Given the description of an element on the screen output the (x, y) to click on. 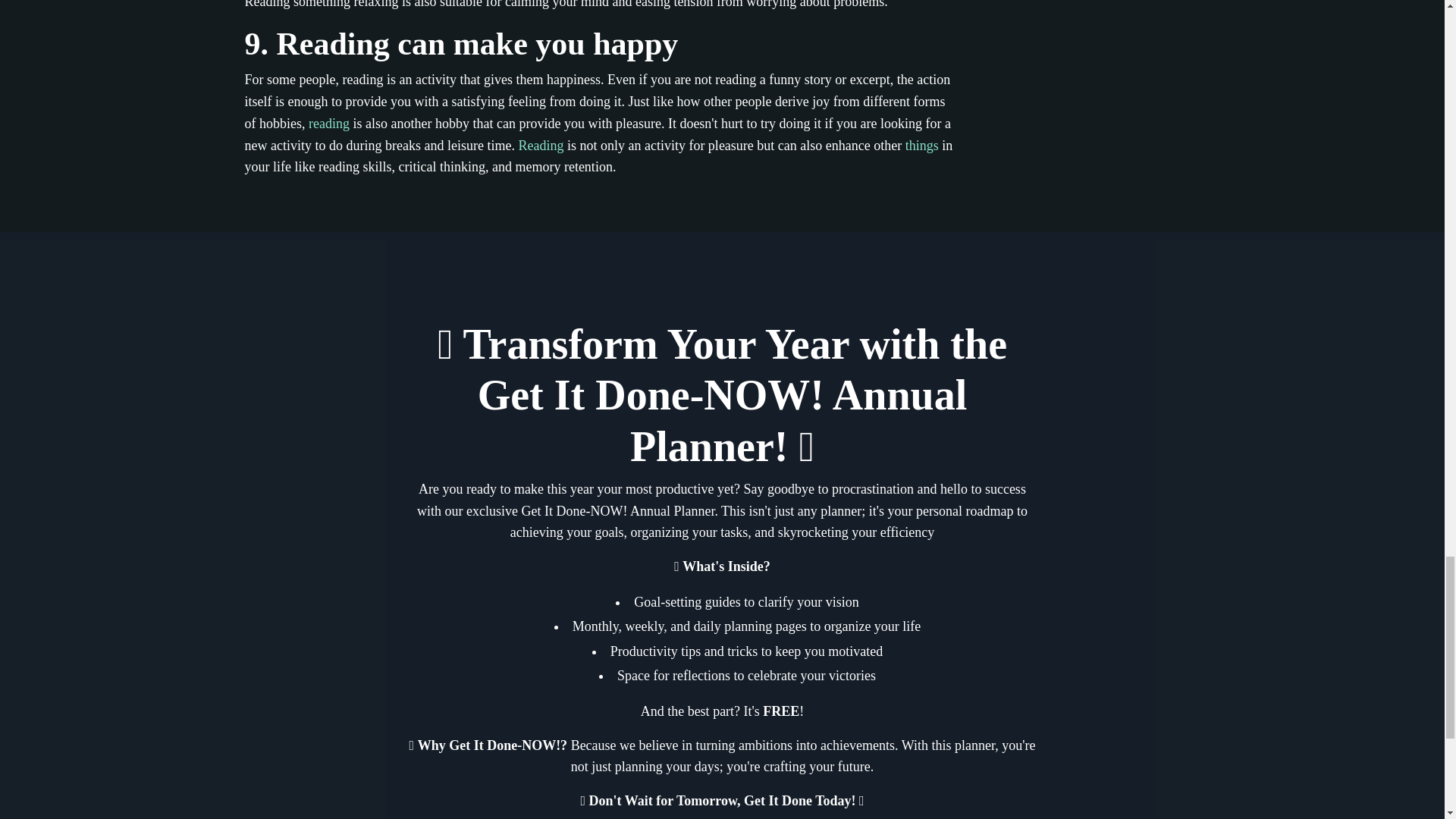
things (922, 145)
reading (328, 123)
Reading (540, 145)
